Given the description of an element on the screen output the (x, y) to click on. 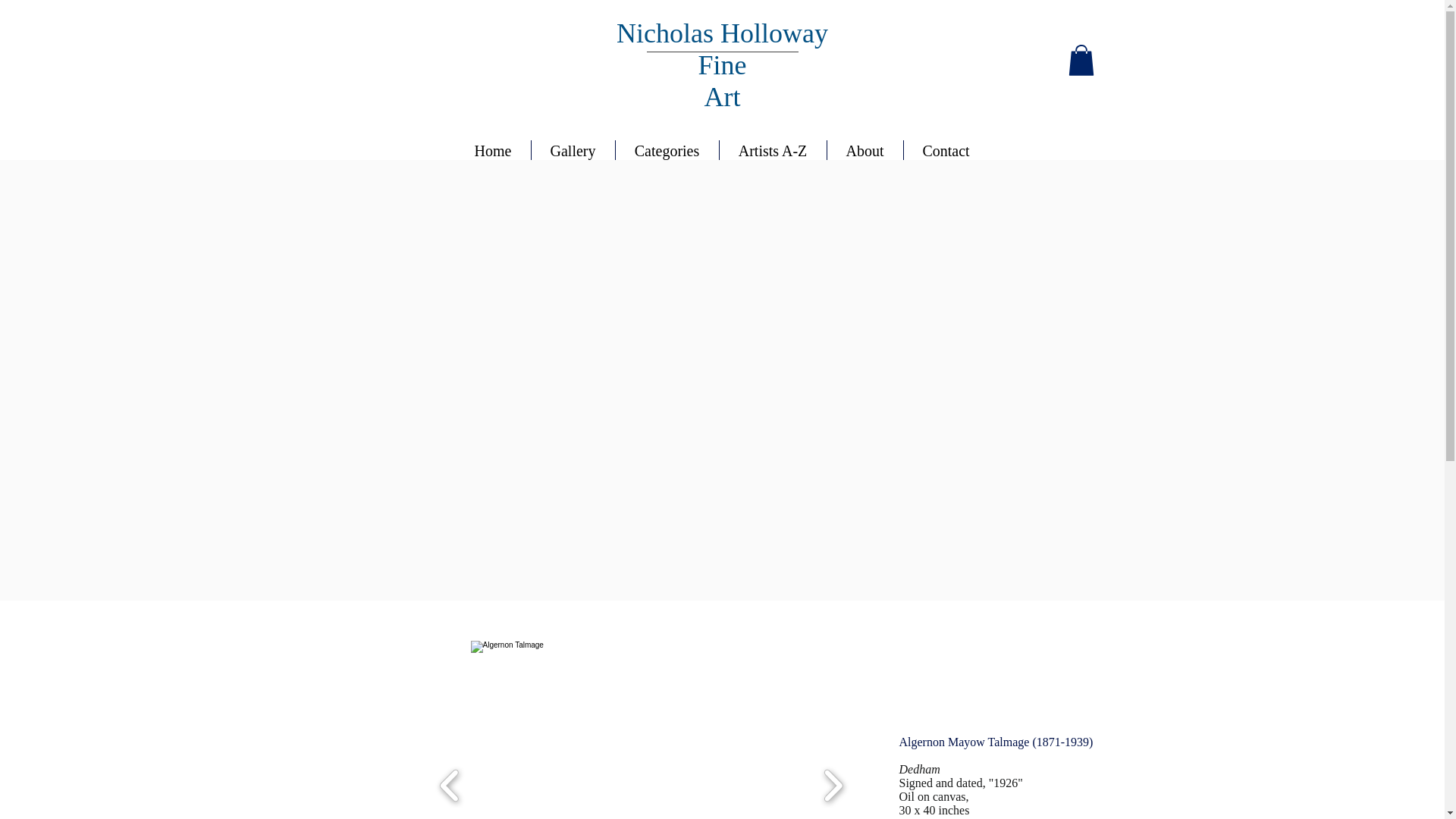
About (864, 149)
Artists A-Z (772, 149)
Home (491, 149)
Contact (946, 149)
Gallery (572, 149)
lloway (791, 33)
